Given the description of an element on the screen output the (x, y) to click on. 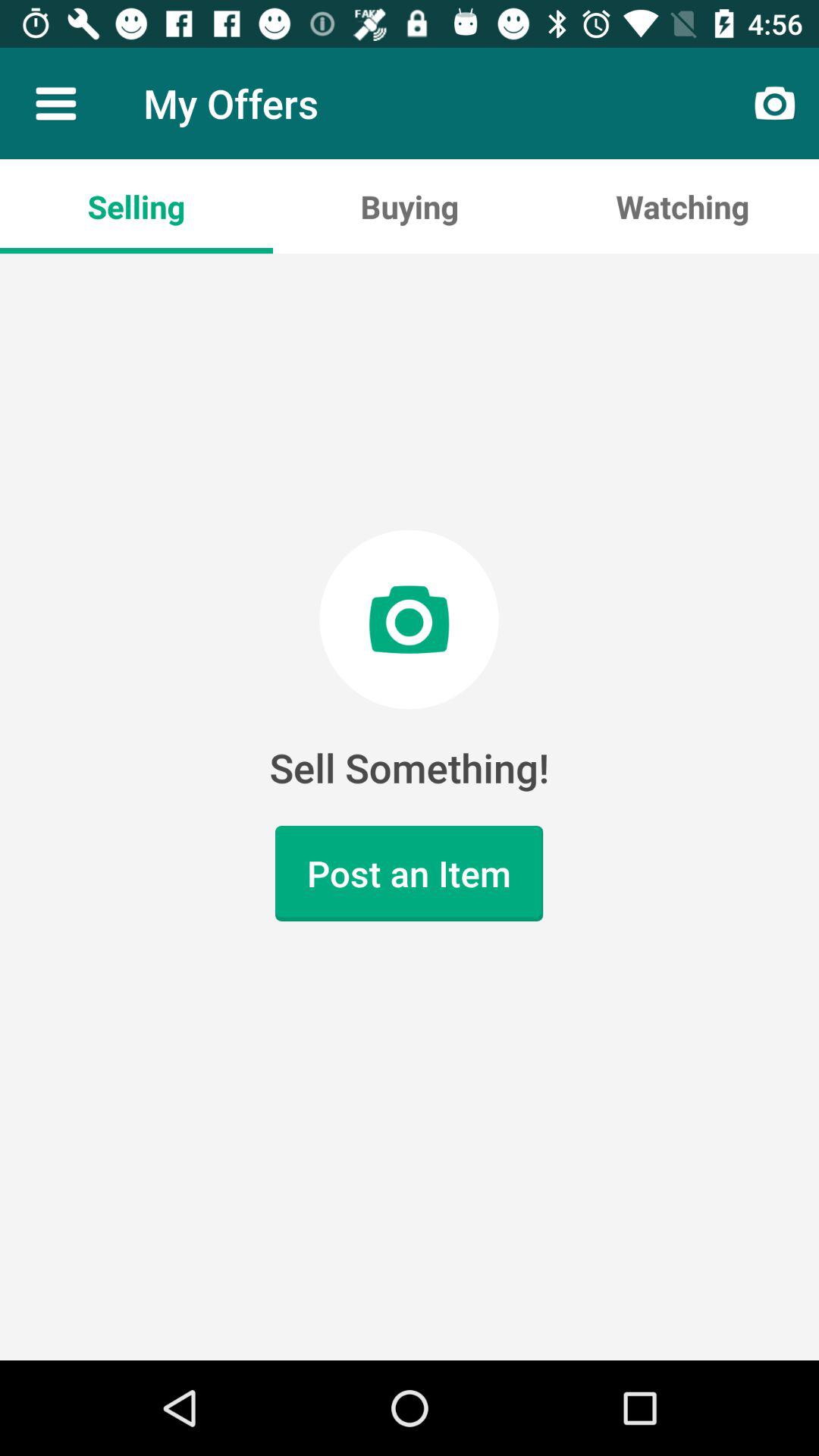
turn on icon above the sell something! icon (682, 206)
